Given the description of an element on the screen output the (x, y) to click on. 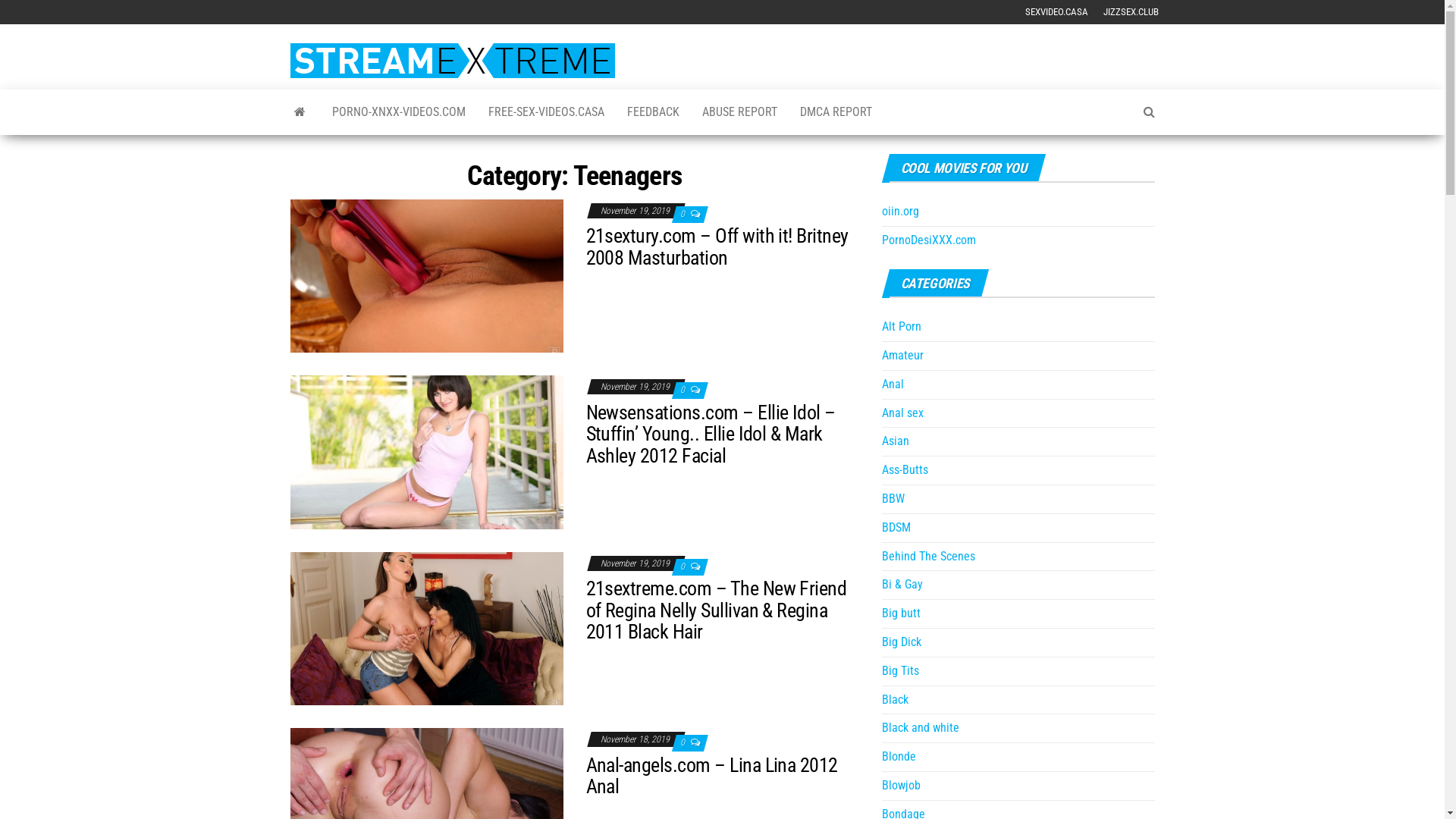
Anal sex Element type: text (901, 412)
Anal Element type: text (892, 383)
Black Element type: text (894, 699)
JIZZSEX.CLUB Element type: text (1130, 12)
FEEDBACK Element type: text (652, 111)
Behind The Scenes Element type: text (927, 556)
Blonde Element type: text (898, 756)
Big butt Element type: text (900, 612)
BBW Element type: text (892, 498)
StreamExtreme Element type: text (663, 67)
ABUSE REPORT Element type: text (738, 111)
PORNO-XNXX-VIDEOS.COM Element type: text (398, 111)
0 Element type: text (682, 389)
BDSM Element type: text (895, 527)
Big Dick Element type: text (900, 641)
FREE-SEX-VIDEOS.CASA Element type: text (545, 111)
0 Element type: text (682, 742)
Alt Porn Element type: text (900, 326)
Amateur Element type: text (901, 355)
SEXVIDEO.CASA Element type: text (1056, 12)
Big Tits Element type: text (899, 670)
oiin.org Element type: text (899, 210)
Blowjob Element type: text (900, 785)
Bi & Gay Element type: text (901, 584)
DMCA REPORT Element type: text (835, 111)
0 Element type: text (682, 566)
Ass-Butts Element type: text (904, 469)
StreamExtreme Element type: hover (299, 111)
Black and white Element type: text (919, 727)
0 Element type: text (682, 213)
Asian Element type: text (894, 440)
PornoDesiXXX.com Element type: text (928, 239)
